Given the description of an element on the screen output the (x, y) to click on. 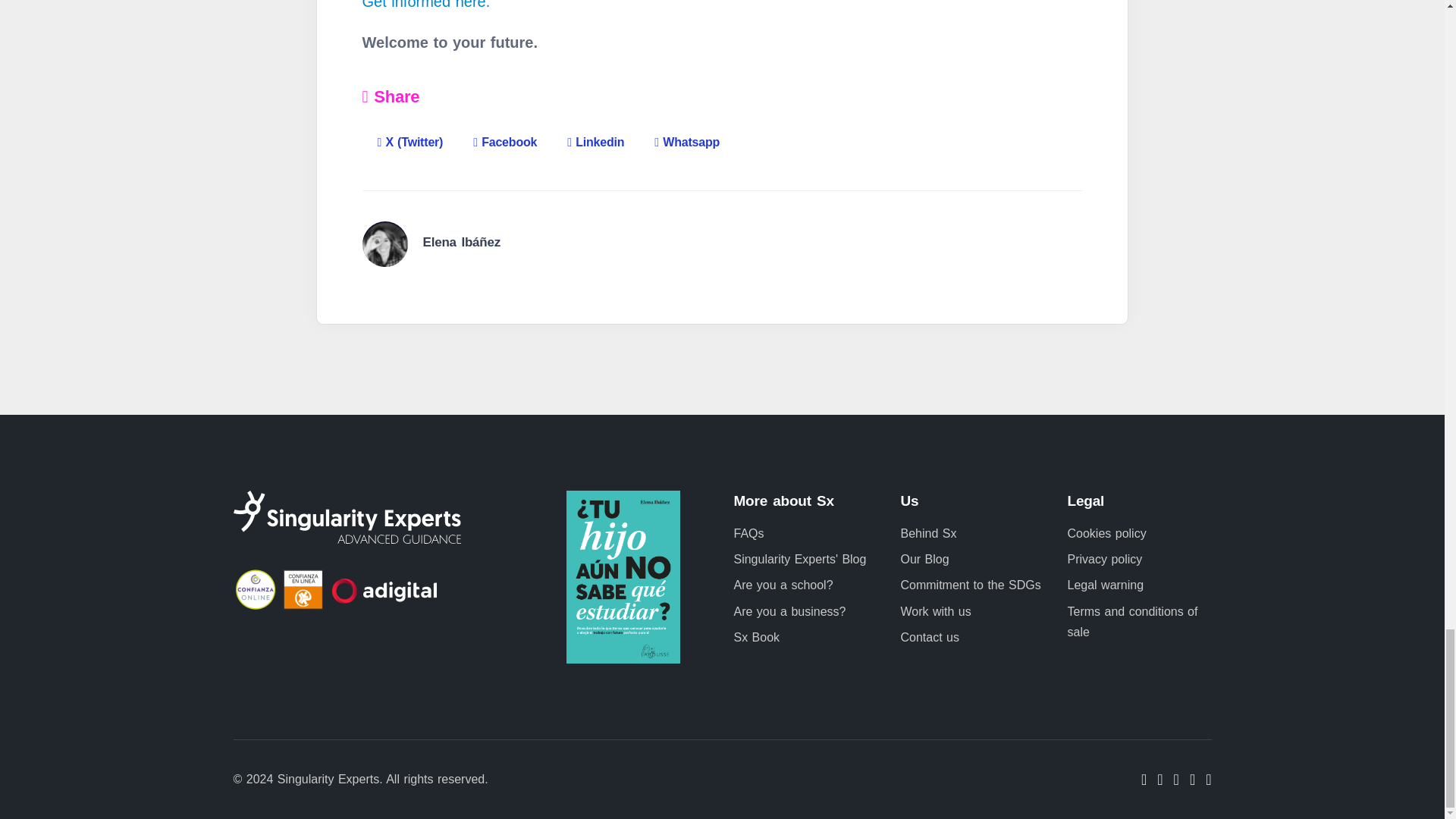
linkedin (1176, 779)
instagram (1192, 779)
facebook (1159, 779)
whatsapp (1208, 779)
